Given the description of an element on the screen output the (x, y) to click on. 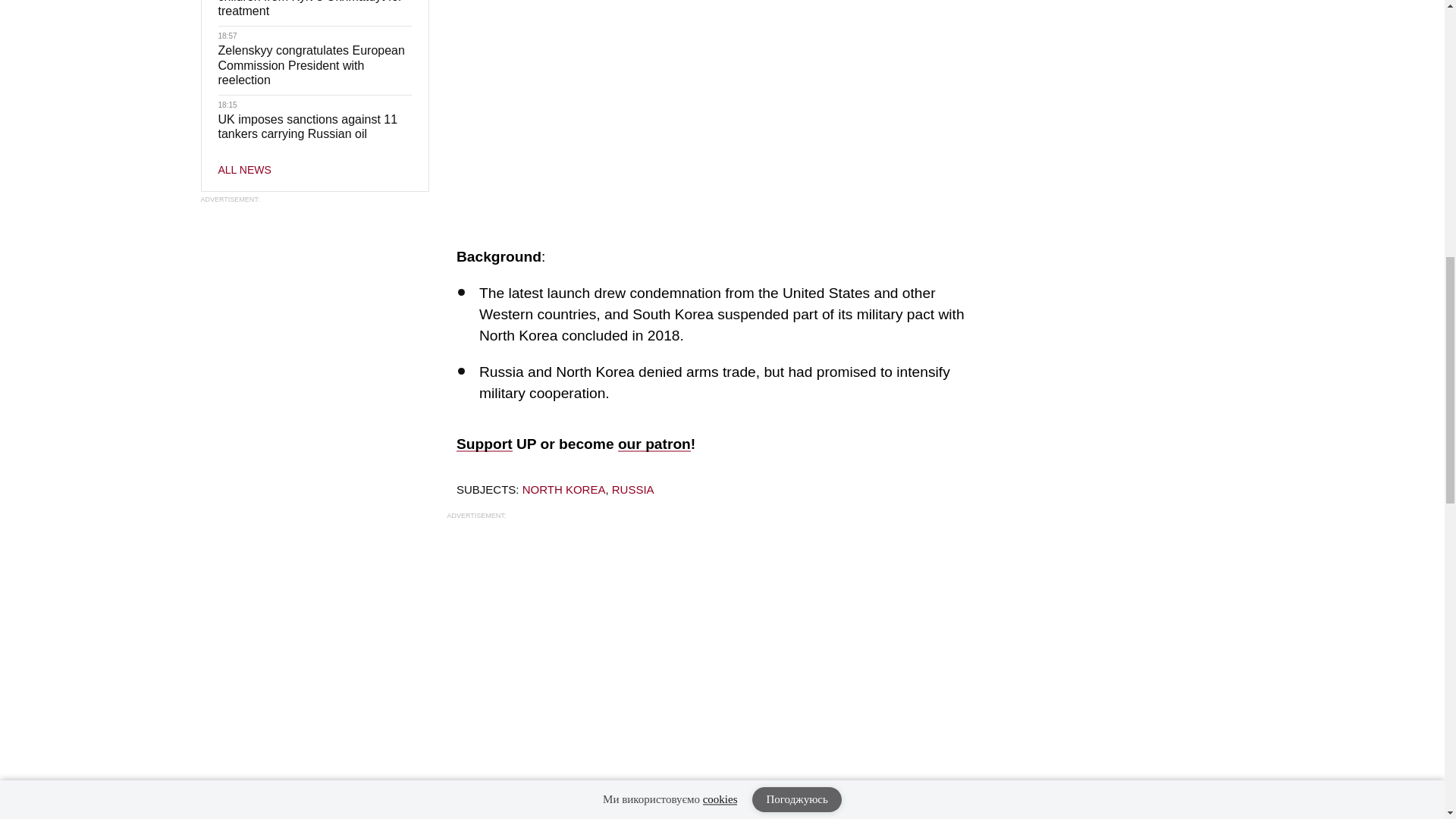
Support (484, 443)
our patron (653, 443)
RUSSIA (632, 489)
NORTH KOREA (563, 489)
